Given the description of an element on the screen output the (x, y) to click on. 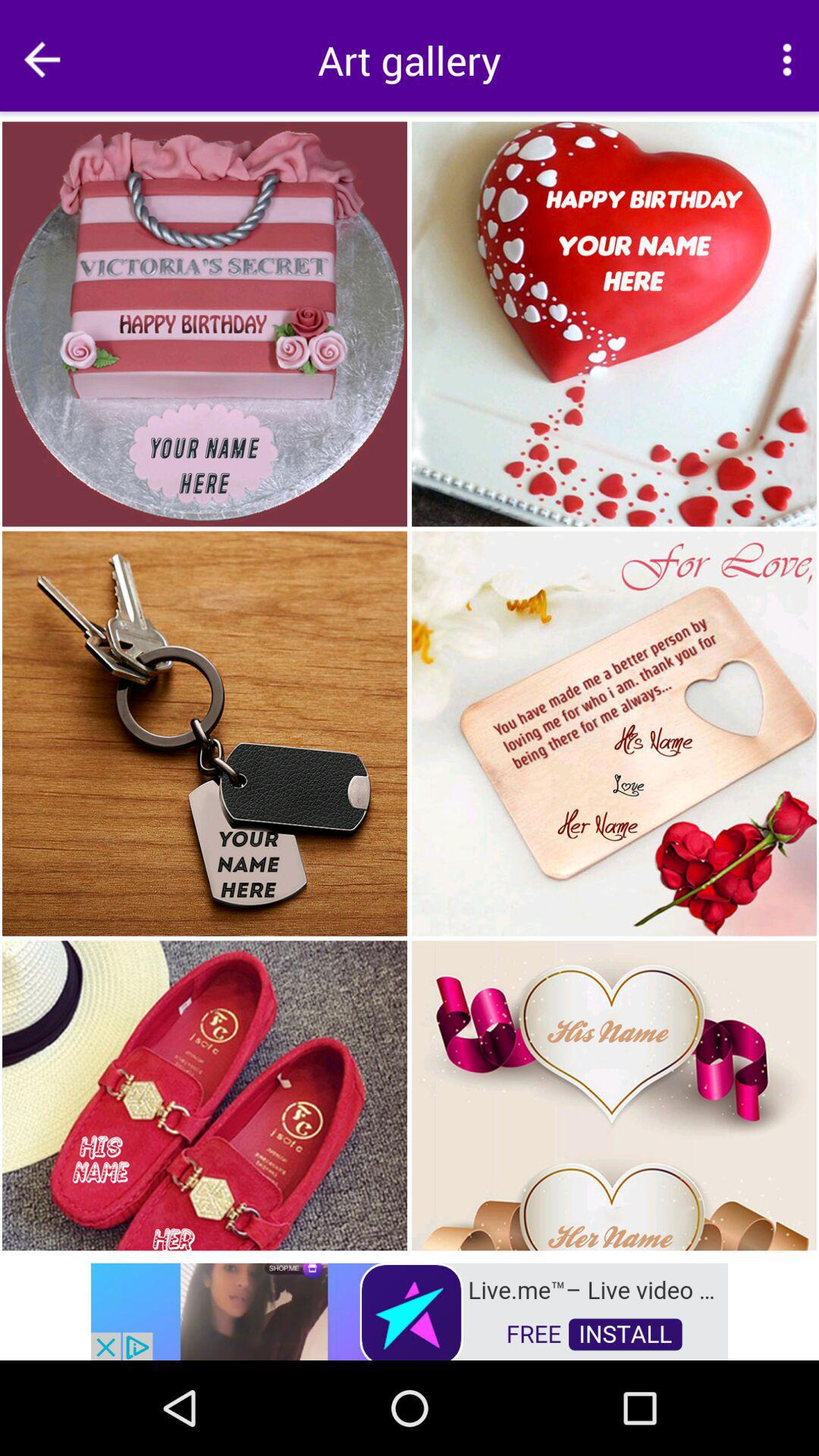
go back (41, 59)
